Given the description of an element on the screen output the (x, y) to click on. 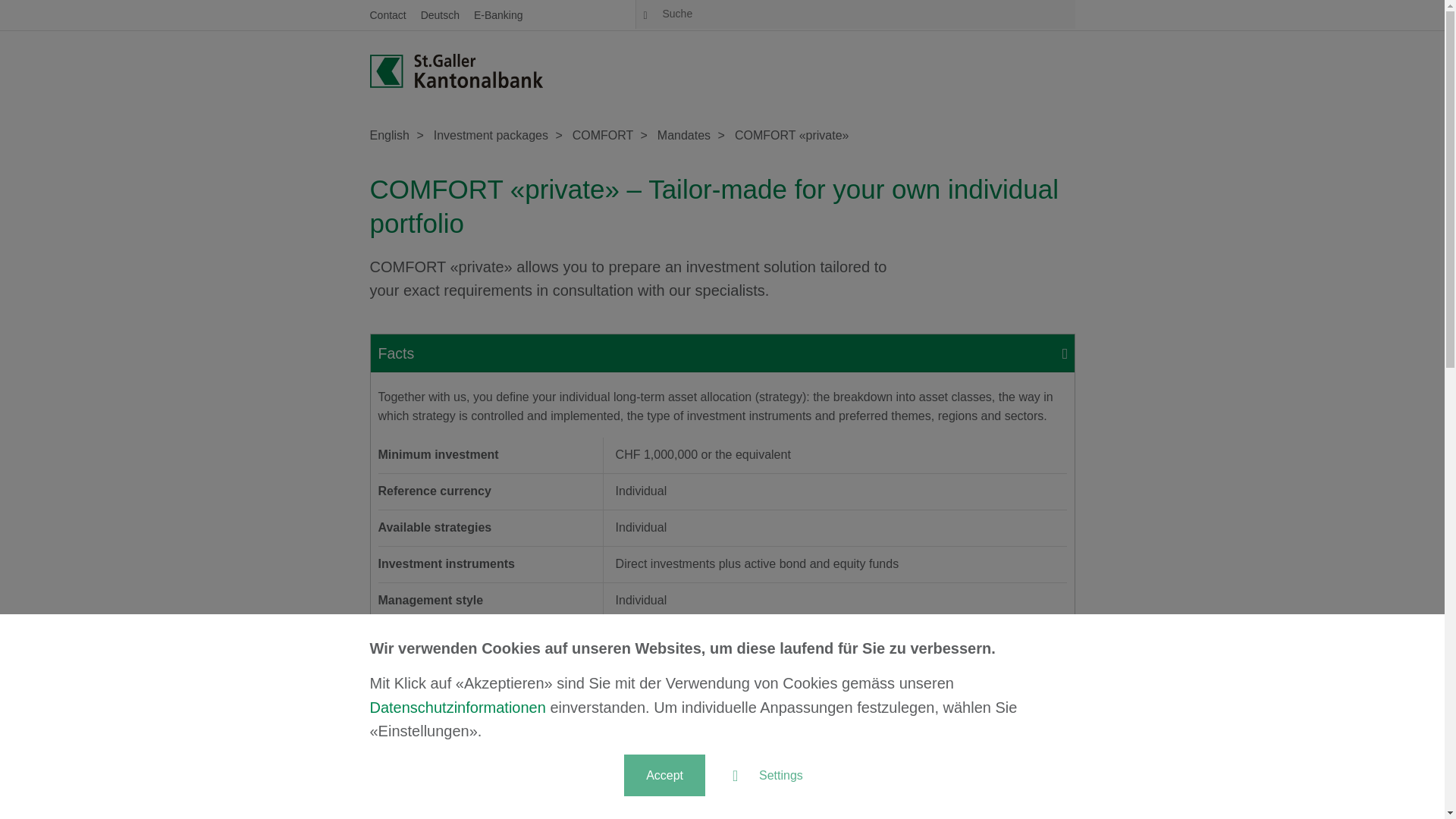
Mandates (686, 134)
Deutsch (440, 15)
Your advantages (721, 661)
English (391, 134)
Contact (387, 15)
Facts (721, 352)
E-Banking (498, 15)
COMFORT (604, 134)
Investment packages (492, 134)
